Given the description of an element on the screen output the (x, y) to click on. 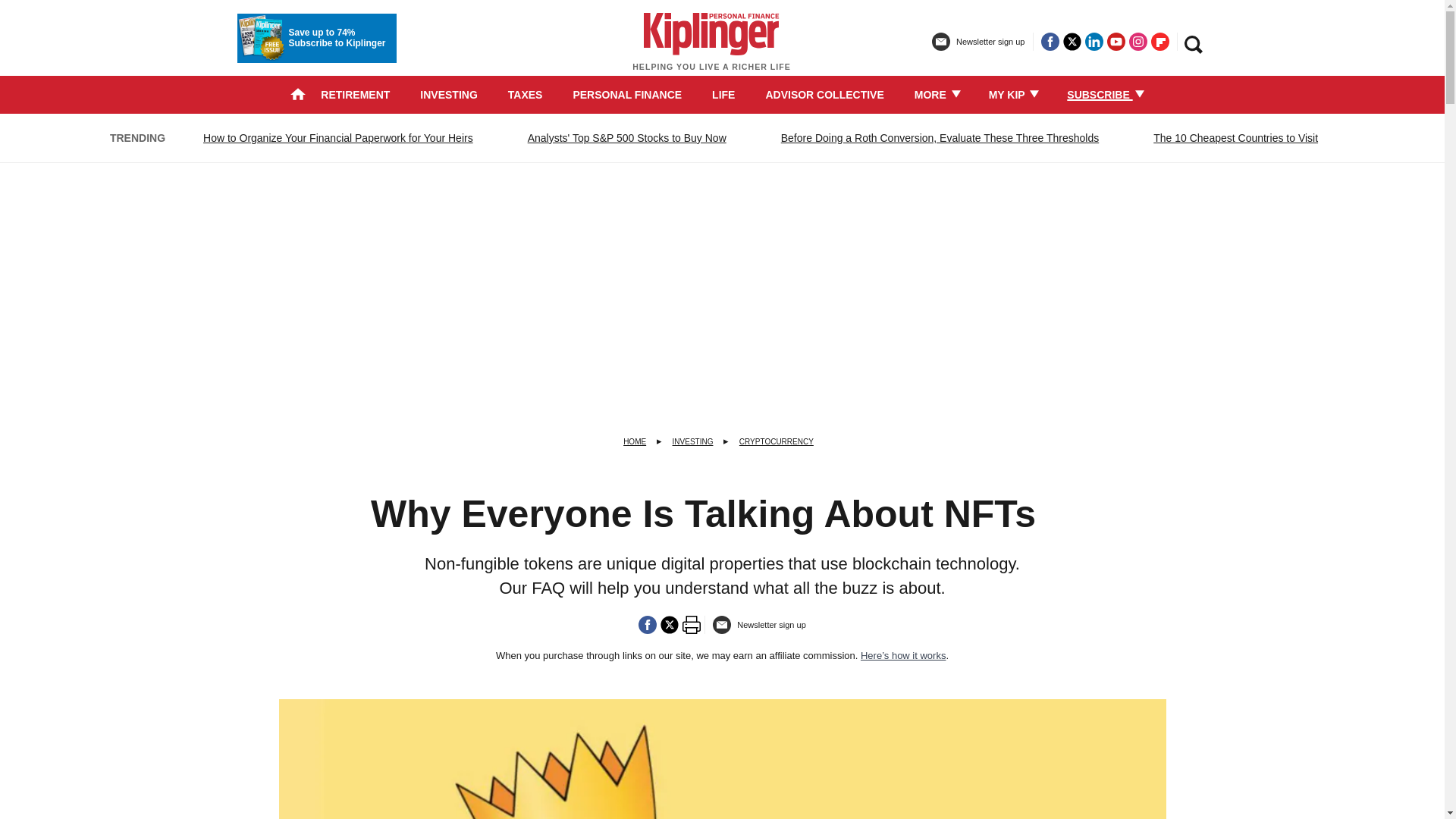
RETIREMENT (355, 94)
INVESTING (448, 94)
HELPING YOU LIVE A RICHER LIFE (710, 48)
PERSONAL FINANCE (626, 94)
TAXES (525, 94)
LIFE (723, 94)
